Given the description of an element on the screen output the (x, y) to click on. 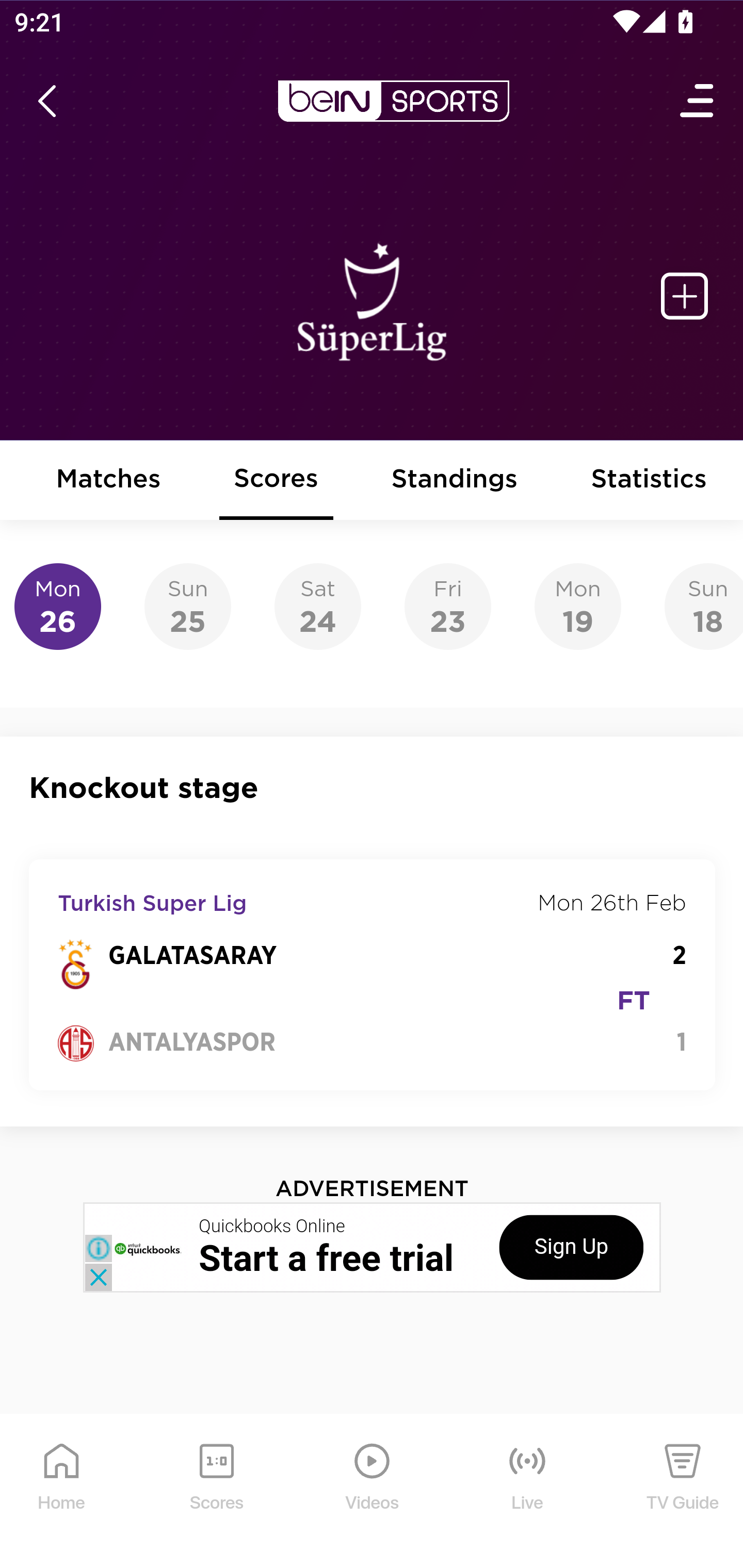
en-us?platform=mobile_android bein logo white (392, 101)
icon back (46, 101)
Open Menu Icon (697, 101)
Matches (107, 480)
Scores (275, 480)
Standings (454, 480)
Statistics (649, 480)
Mon26 (58, 606)
Sun25 (187, 606)
Sat24 (318, 606)
Fri23 (447, 606)
Mon19 (578, 606)
Sun18 (703, 606)
Knockout stage (372, 787)
Quickbooks Online (272, 1226)
Sign Up (571, 1247)
Start a free trial (326, 1258)
Home Home Icon Home (61, 1491)
Scores Scores Icon Scores (216, 1491)
Videos Videos Icon Videos (372, 1491)
TV Guide TV Guide Icon TV Guide (682, 1491)
